Given the description of an element on the screen output the (x, y) to click on. 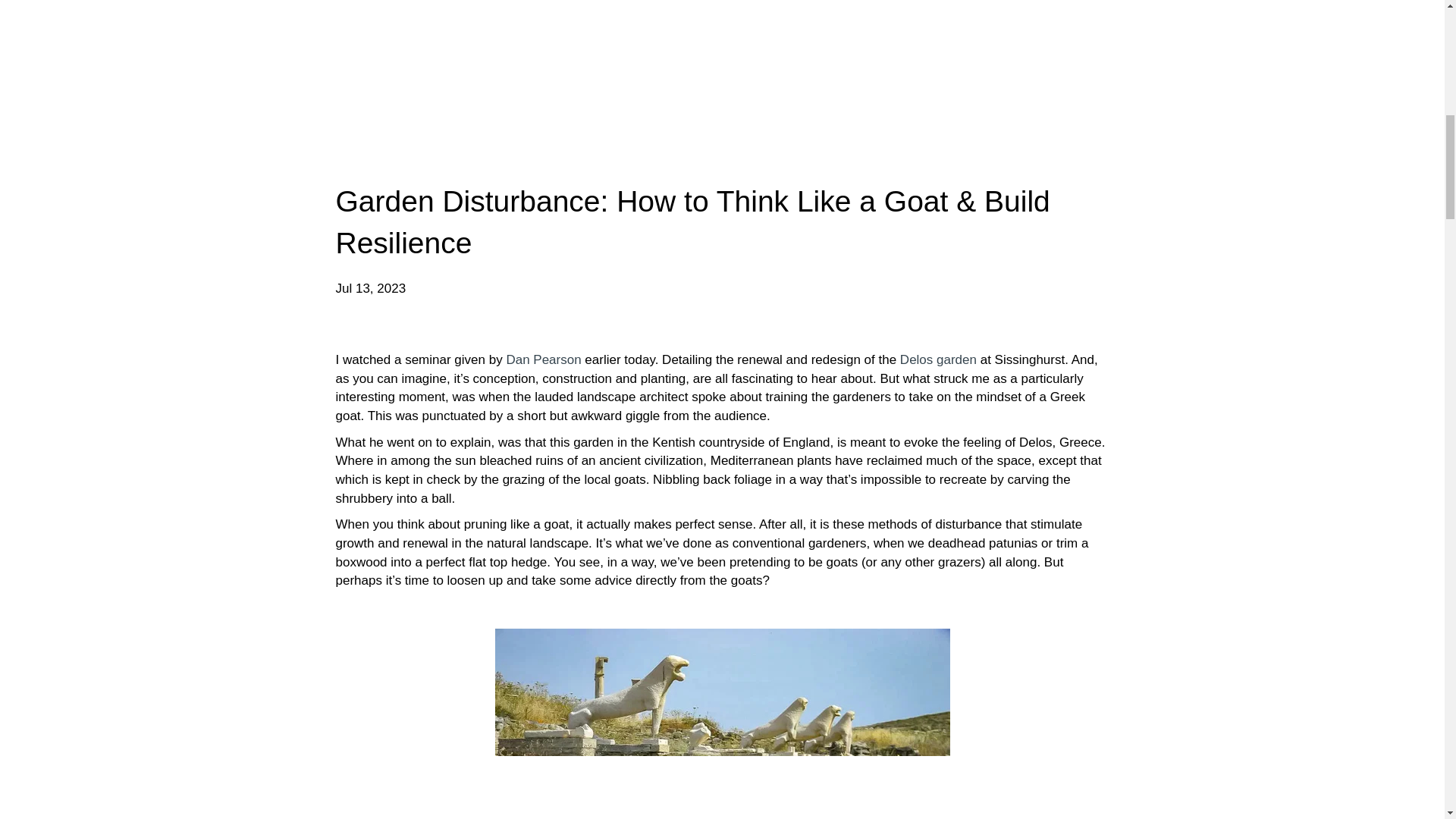
Delos garden (937, 359)
Dan Pearson (542, 359)
mediterranean ruins (722, 723)
